Given the description of an element on the screen output the (x, y) to click on. 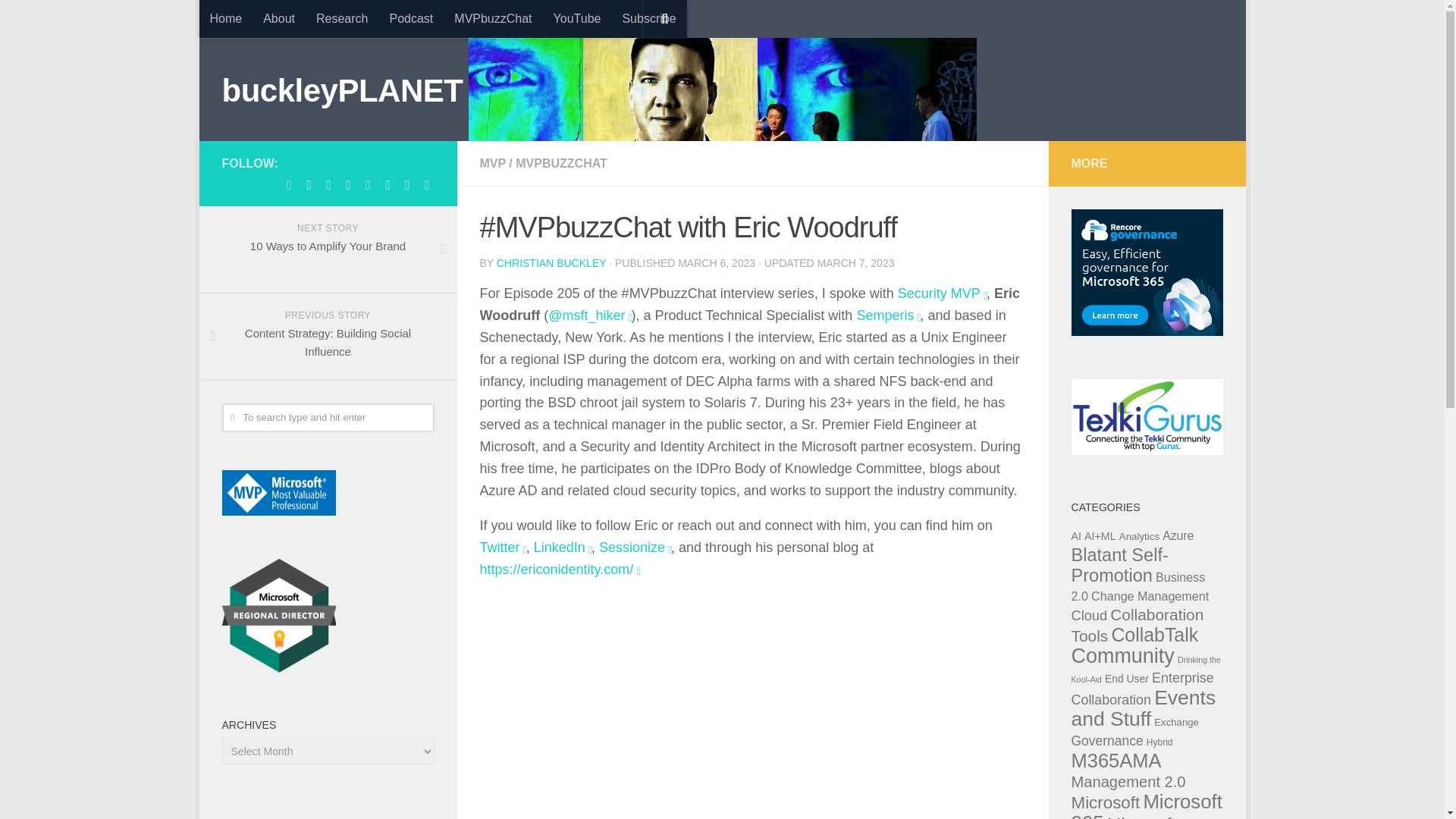
Subscribe (648, 18)
Security MVP (938, 293)
Semperis (885, 314)
Research (341, 18)
MVPBUZZCHAT (561, 163)
buckleyPLANET (342, 90)
Follow us on Facebook-official (327, 184)
Sessionize (631, 547)
Home (224, 18)
To search type and hit enter (327, 417)
